Given the description of an element on the screen output the (x, y) to click on. 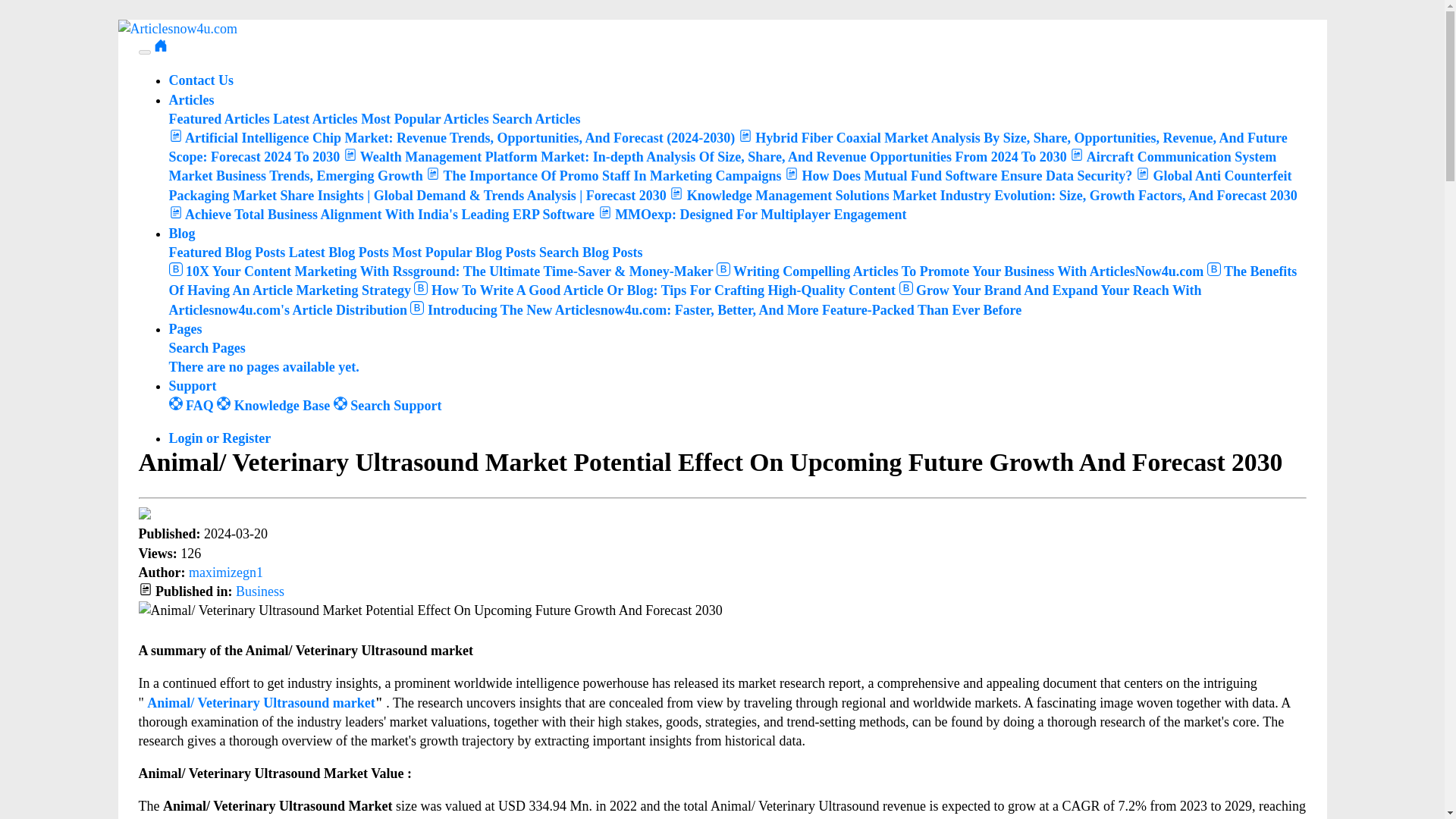
Articles (191, 99)
Support (191, 385)
maximizegn1 (226, 572)
Search Pages (206, 347)
Articlesnow4u.com (177, 28)
The Benefits Of Having An Article Marketing Strategy (732, 280)
Most Popular Articles (425, 118)
Pages (185, 328)
